Given the description of an element on the screen output the (x, y) to click on. 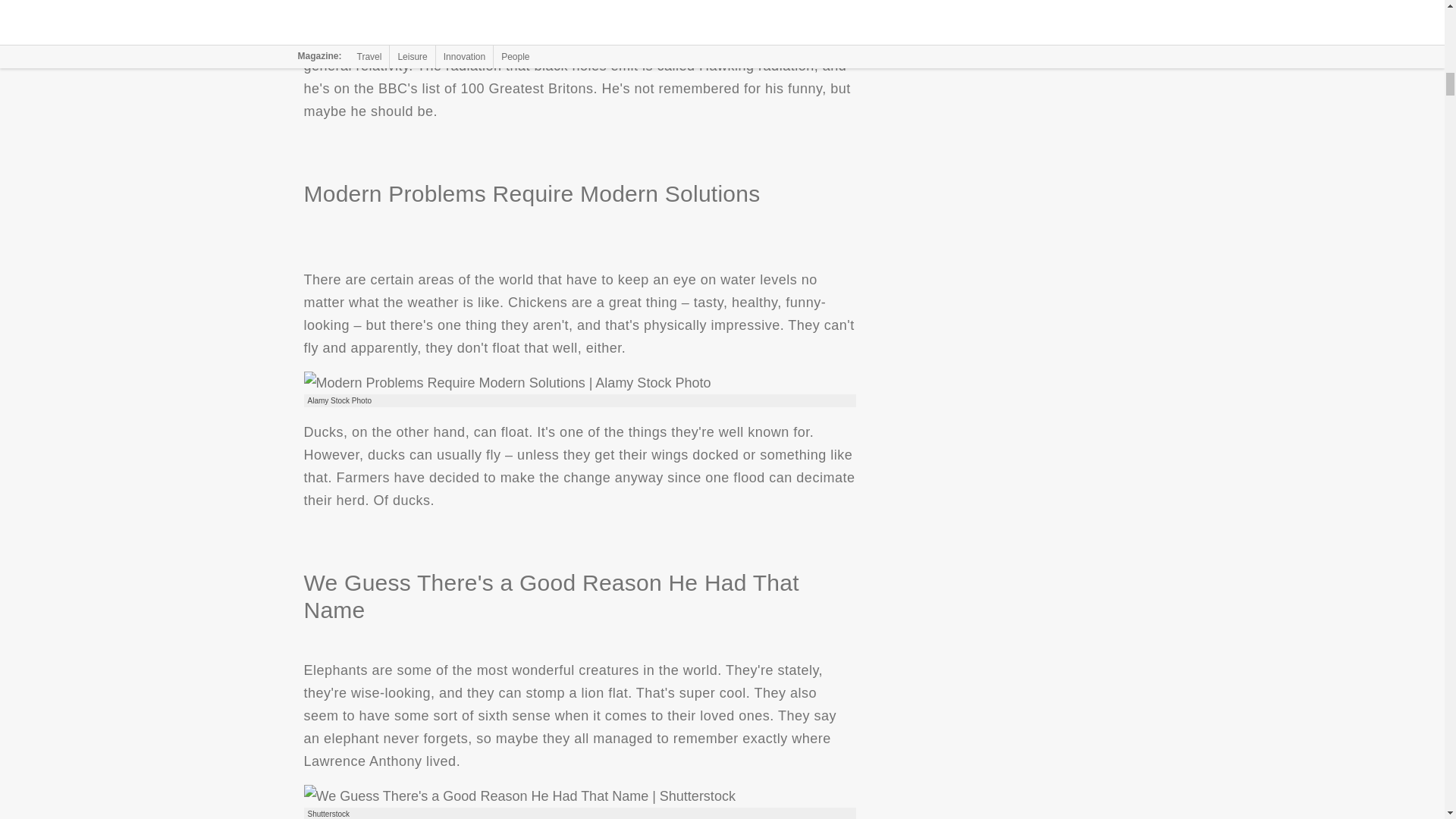
Modern Problems Require Modern Solutions (506, 382)
We Guess There's a Good Reason He Had That Name (518, 795)
Ha. Ha. Ha. (456, 2)
